Given the description of an element on the screen output the (x, y) to click on. 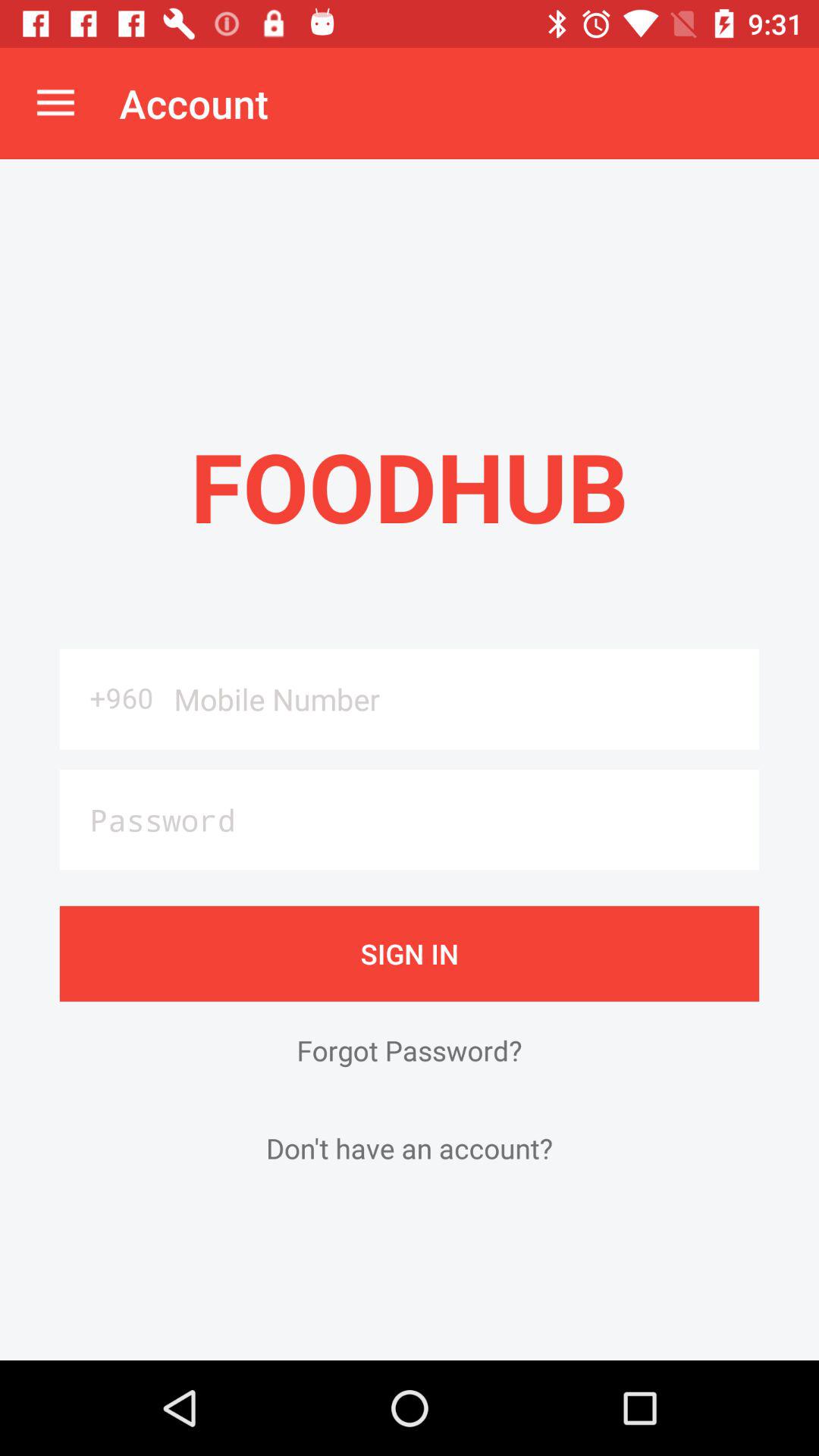
launch the don t have (409, 1148)
